Given the description of an element on the screen output the (x, y) to click on. 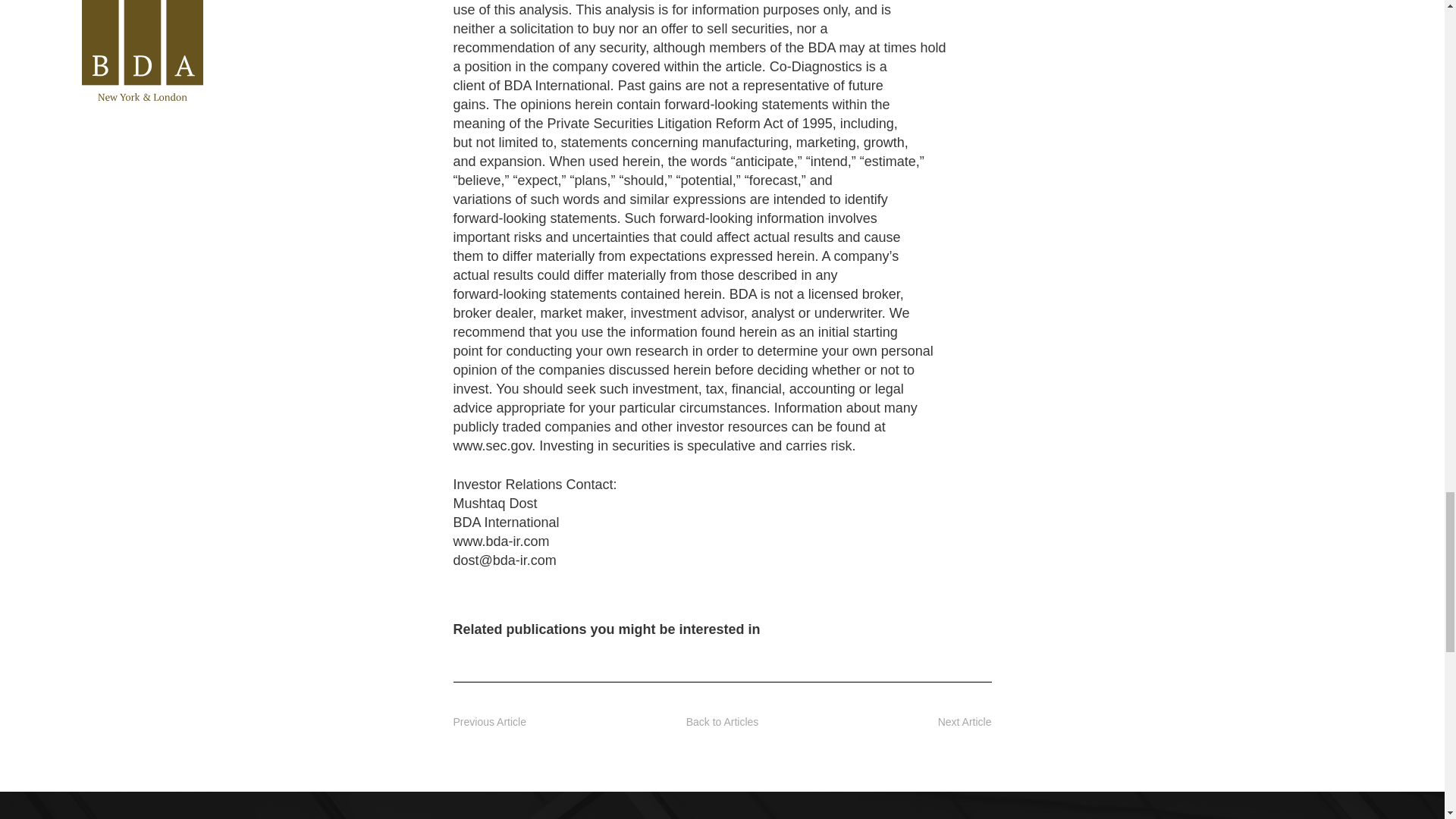
Previous Article (488, 721)
Next Article (964, 721)
